Given the description of an element on the screen output the (x, y) to click on. 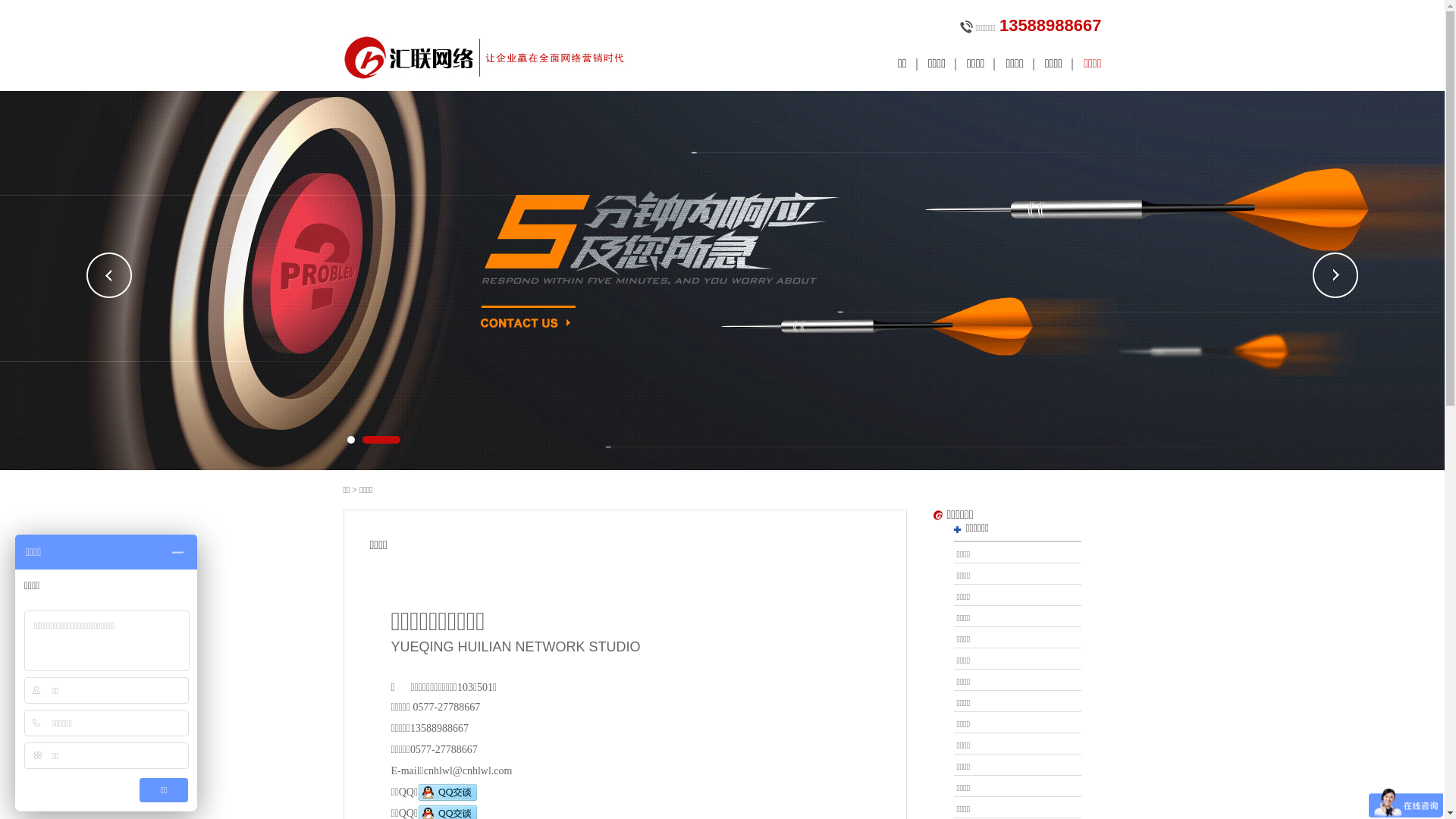
2 Element type: text (381, 439)
cnhlwl@cnhlwl.com Element type: text (467, 770)
1 Element type: text (350, 439)
